Given the description of an element on the screen output the (x, y) to click on. 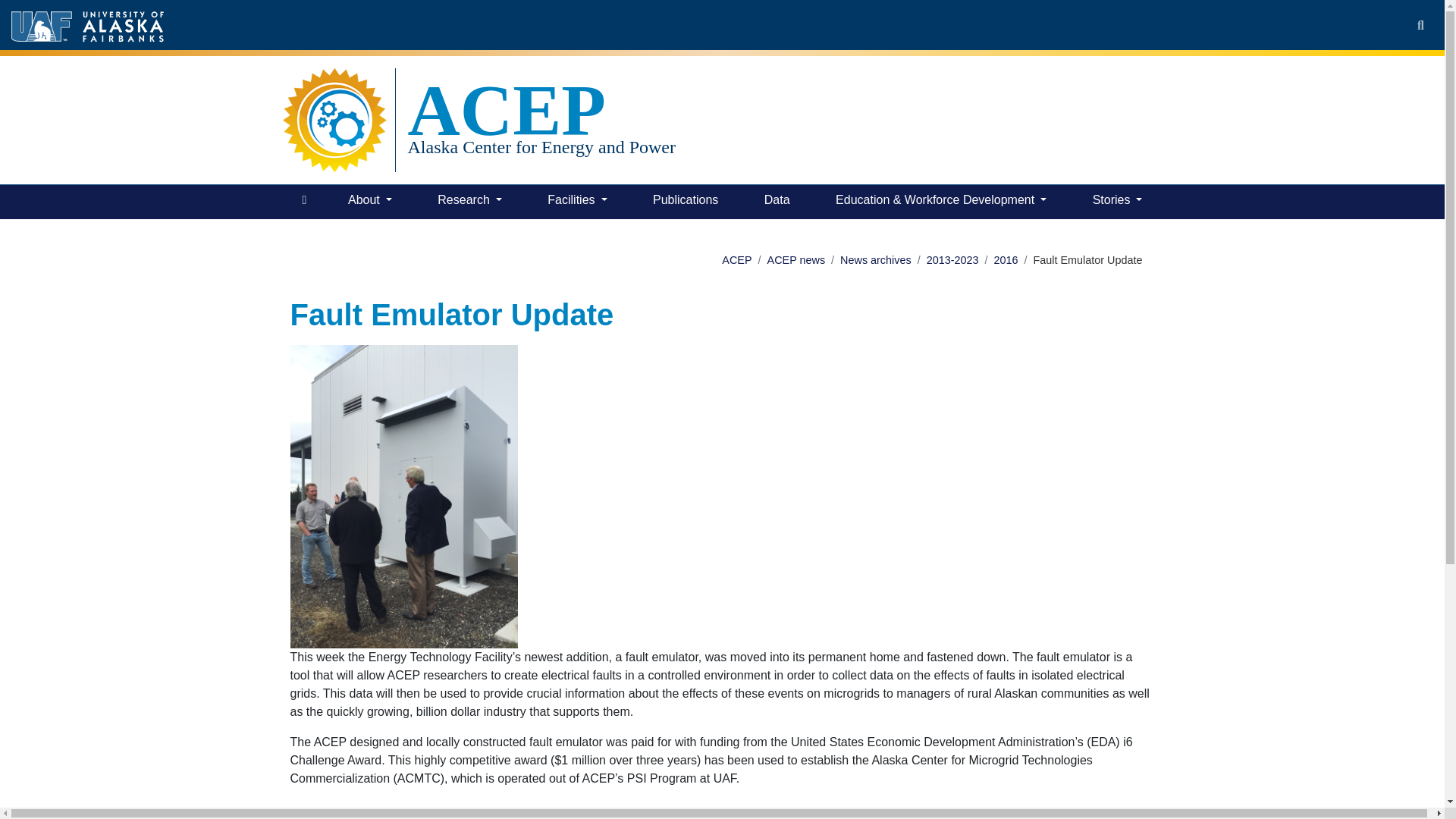
Facilities (576, 202)
Stories (1117, 202)
Data (777, 202)
About (369, 202)
ACEP (541, 109)
Publications (684, 202)
Research (468, 202)
